Given the description of an element on the screen output the (x, y) to click on. 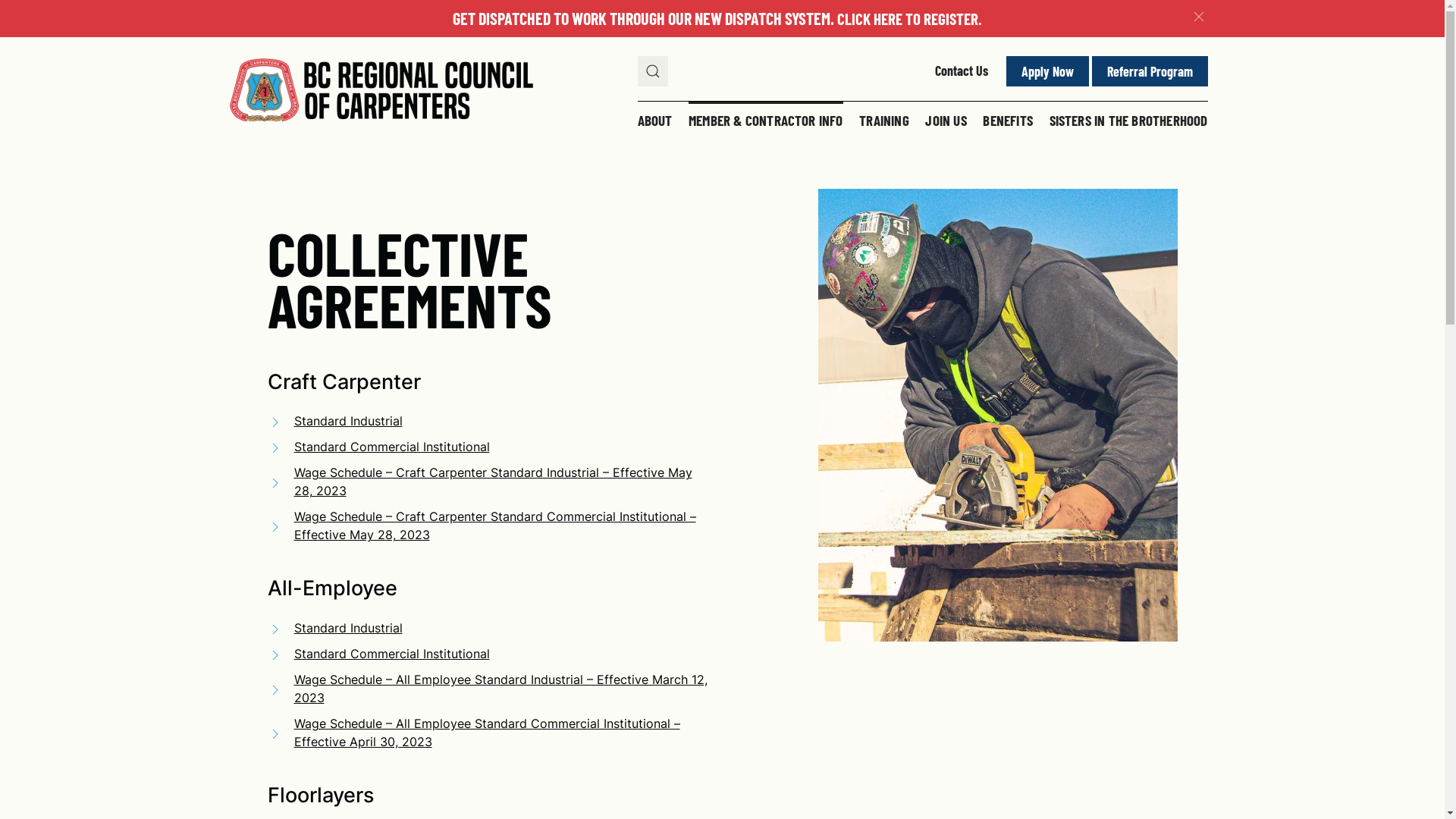
BENEFITS Element type: text (1007, 120)
CLICK HERE TO REGISTER. Element type: text (909, 18)
JOIN US Element type: text (945, 120)
Referral Program Element type: text (1150, 71)
TRAINING Element type: text (883, 120)
Standard Commercial Institutional Element type: text (486, 653)
SISTERS IN THE BROTHERHOOD Element type: text (1124, 120)
Standard Commercial Institutional Element type: text (486, 446)
MEMBER & CONTRACTOR INFO Element type: text (765, 120)
Standard Industrial Element type: text (486, 627)
Apply Now Element type: text (1046, 71)
ABOUT Element type: text (658, 120)
Standard Industrial Element type: text (486, 420)
Contact Us Element type: text (960, 70)
